Given the description of an element on the screen output the (x, y) to click on. 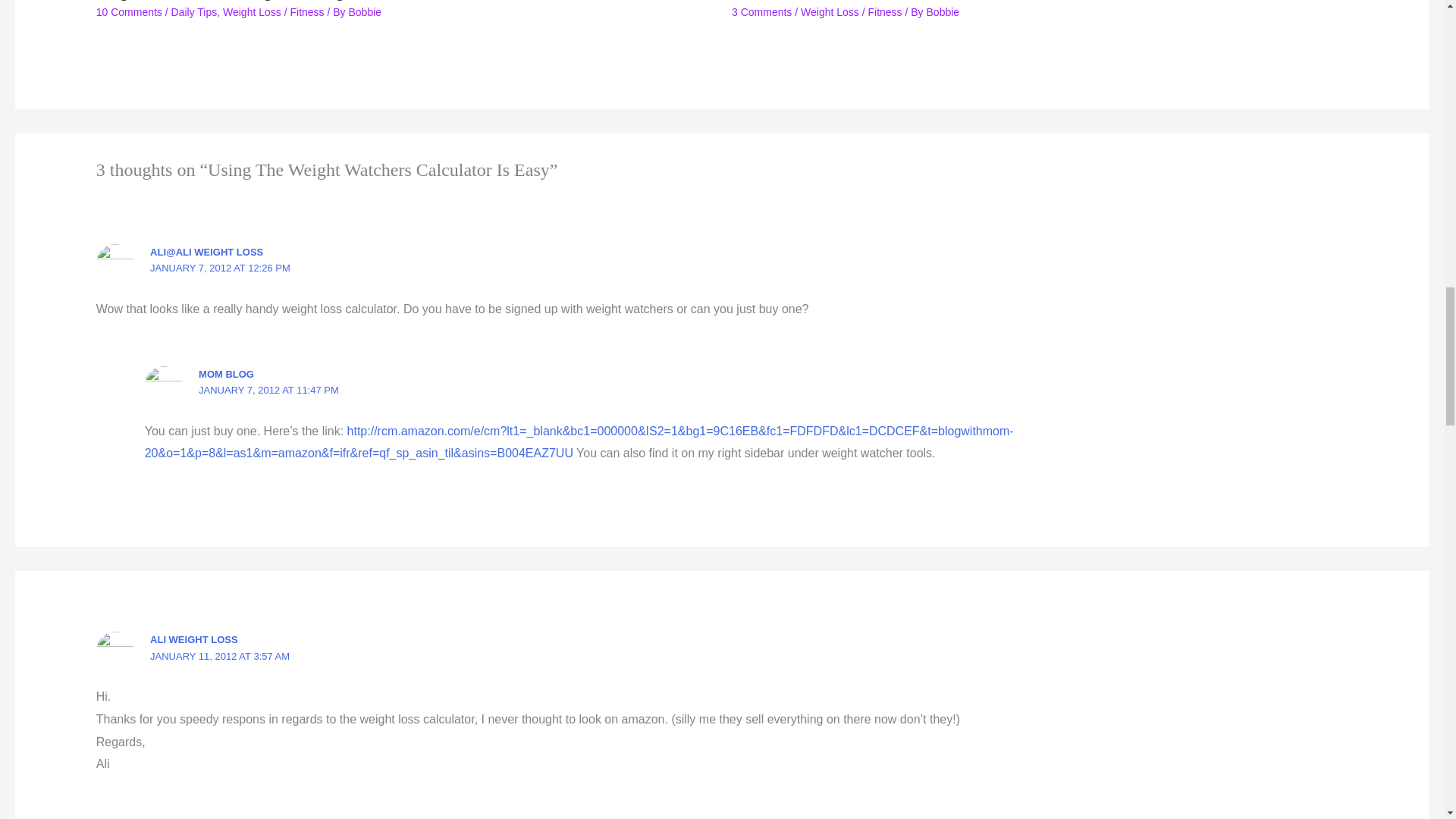
View all posts by Bobbie (942, 11)
Bobbie (365, 11)
View all posts by Bobbie (365, 11)
Daily Tips (193, 11)
10 Comments (128, 11)
